Given the description of an element on the screen output the (x, y) to click on. 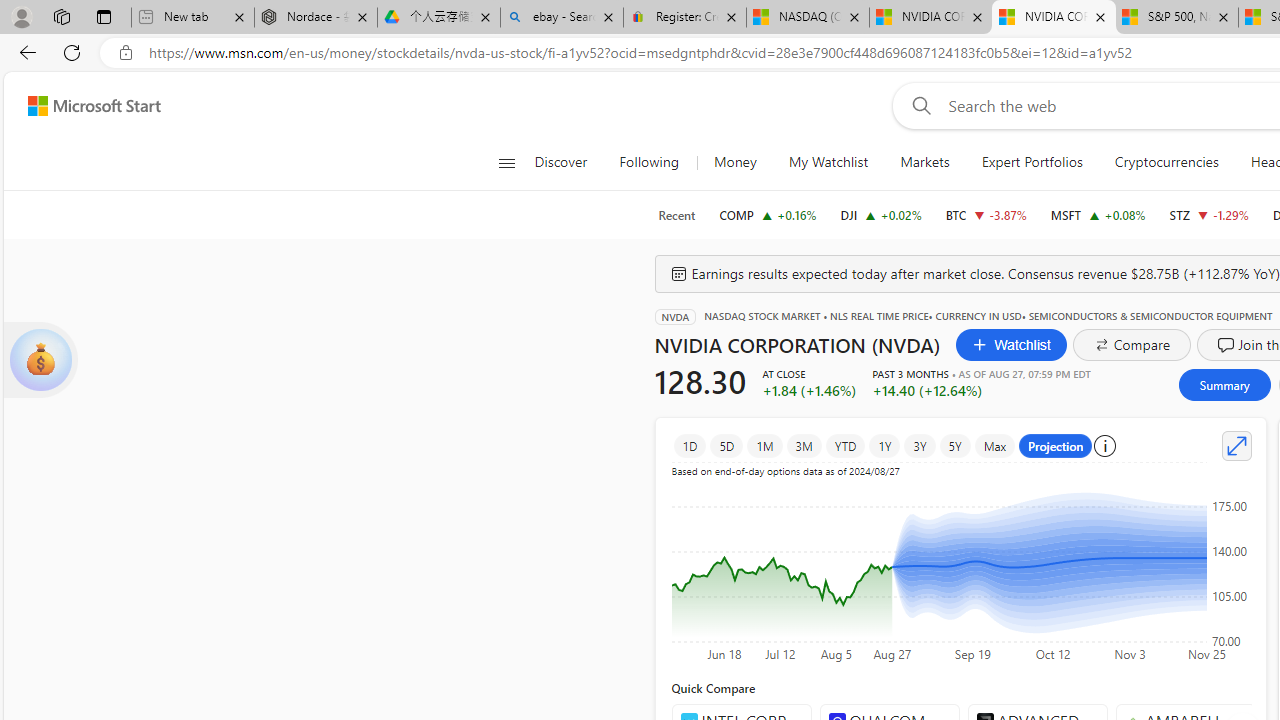
Projection (1055, 445)
DJI DOW increase 41,250.50 +9.98 +0.02% (881, 214)
Expert Portfolios (1031, 162)
Class: button-glyph (505, 162)
Cryptocurrencies (1165, 162)
BTC Bitcoin decrease 60,049.35 -2,320.91 -3.87% (986, 214)
show card (40, 359)
Open navigation menu (506, 162)
Expert Portfolios (1032, 162)
Recent (676, 215)
